Given the description of an element on the screen output the (x, y) to click on. 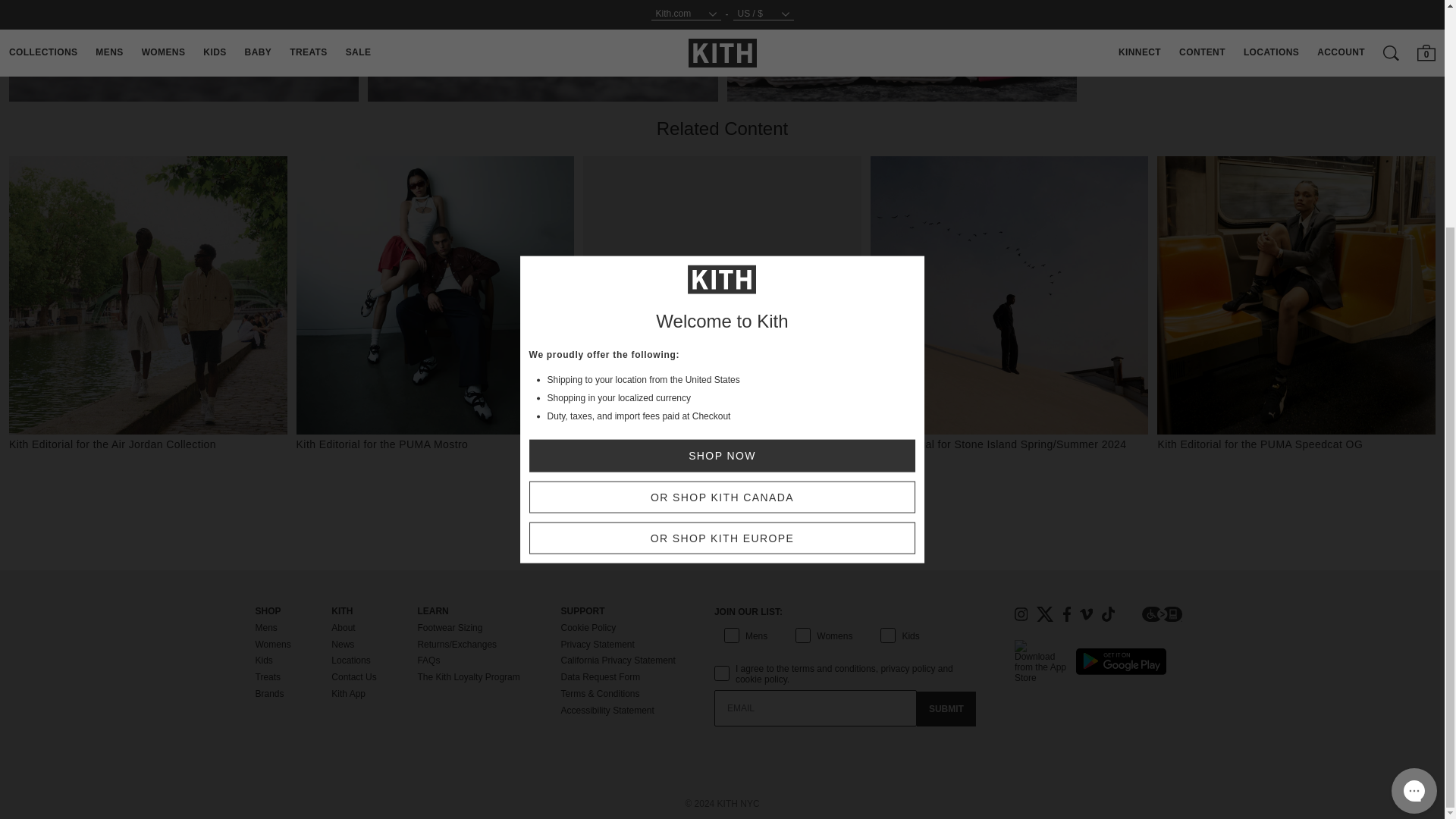
on (718, 657)
essential Accessibility Icon (1161, 613)
X (1044, 613)
Vimeo (1086, 613)
X (1044, 613)
Instagram (1020, 613)
